Given the description of an element on the screen output the (x, y) to click on. 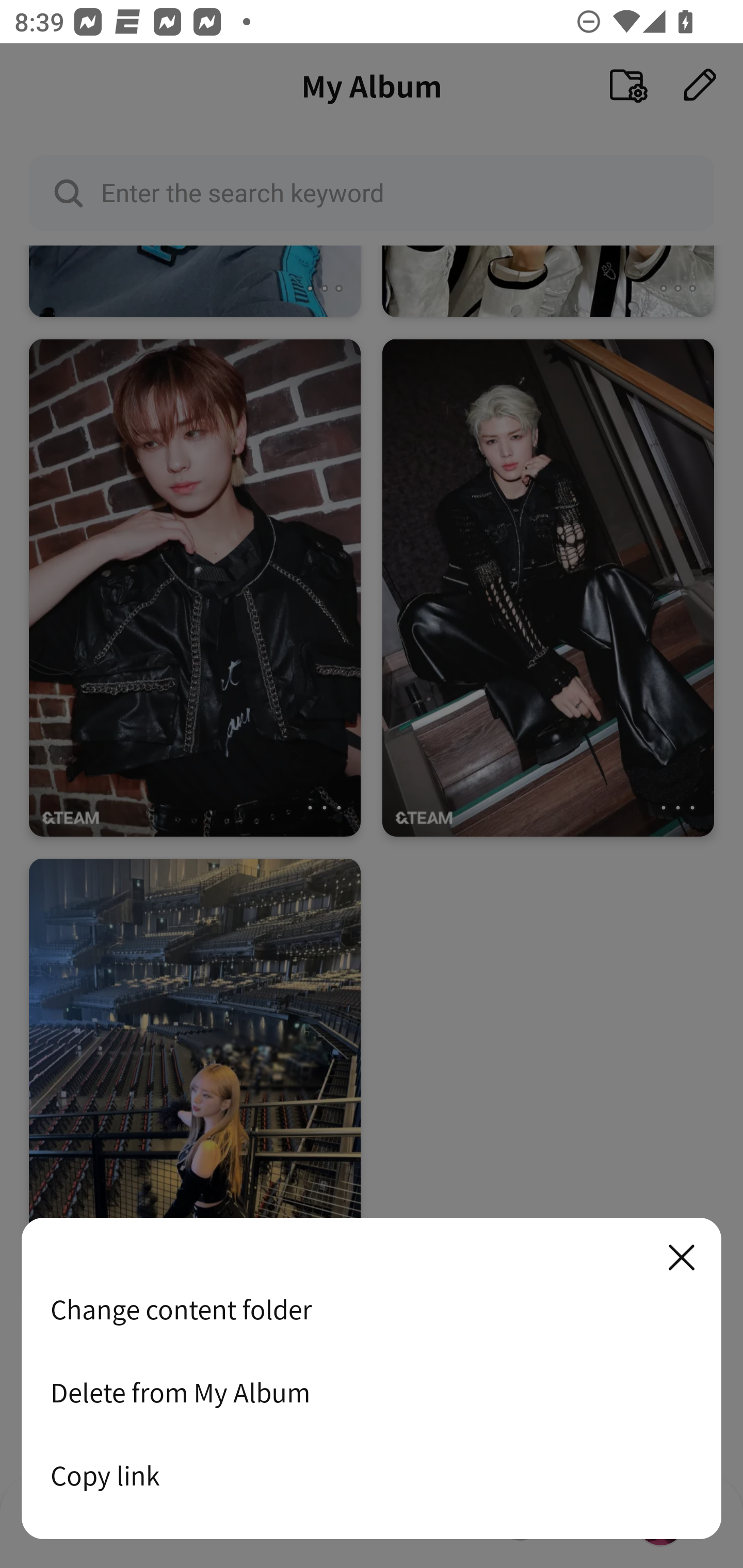
Change content folder (371, 1308)
Delete from My Album (371, 1391)
Copy link (371, 1474)
